Given the description of an element on the screen output the (x, y) to click on. 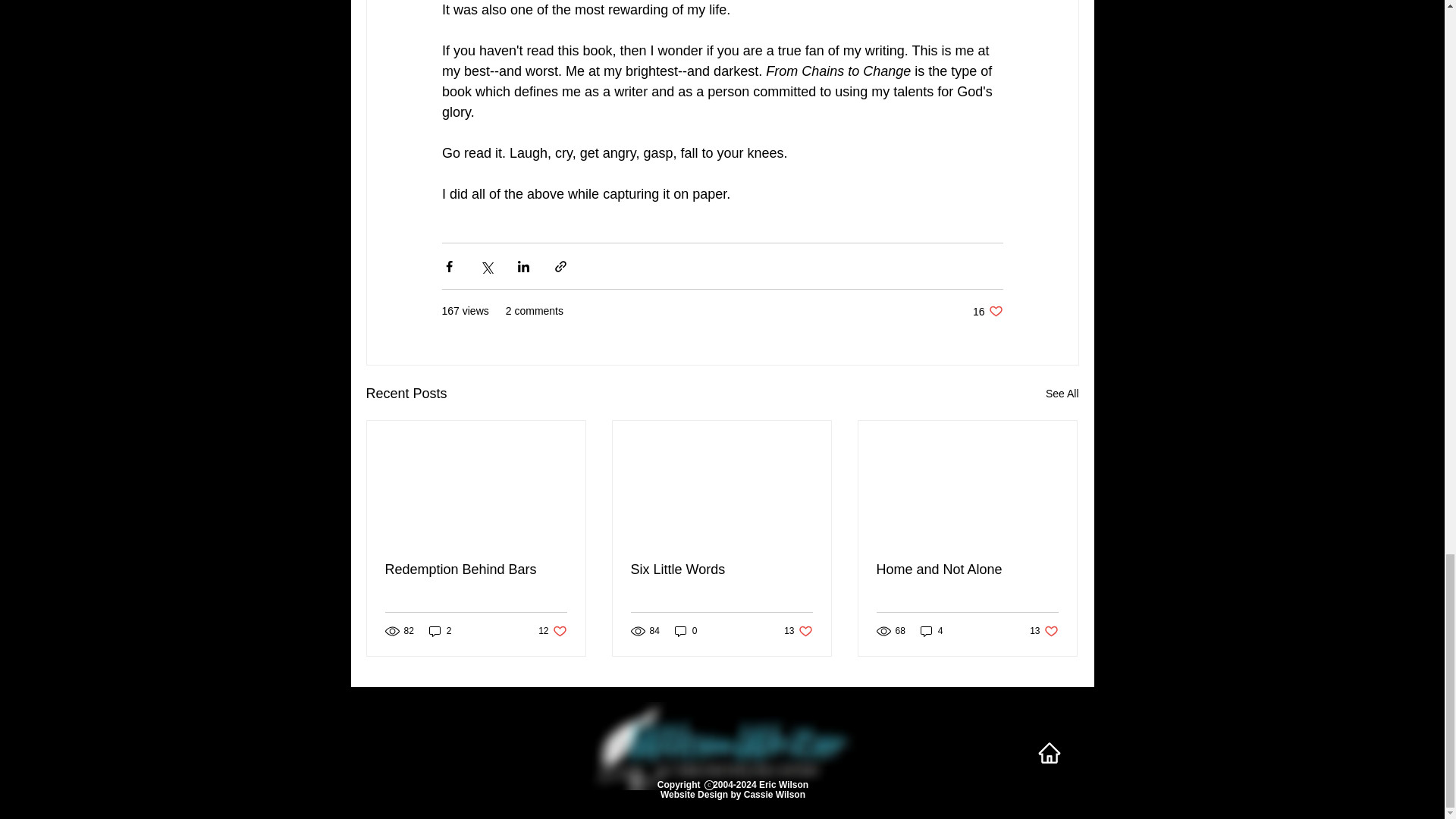
2 (440, 631)
0 (685, 631)
Six Little Words (721, 569)
See All (552, 631)
4 (1061, 393)
Redemption Behind Bars (931, 631)
Home and Not Alone (1043, 631)
